Given the description of an element on the screen output the (x, y) to click on. 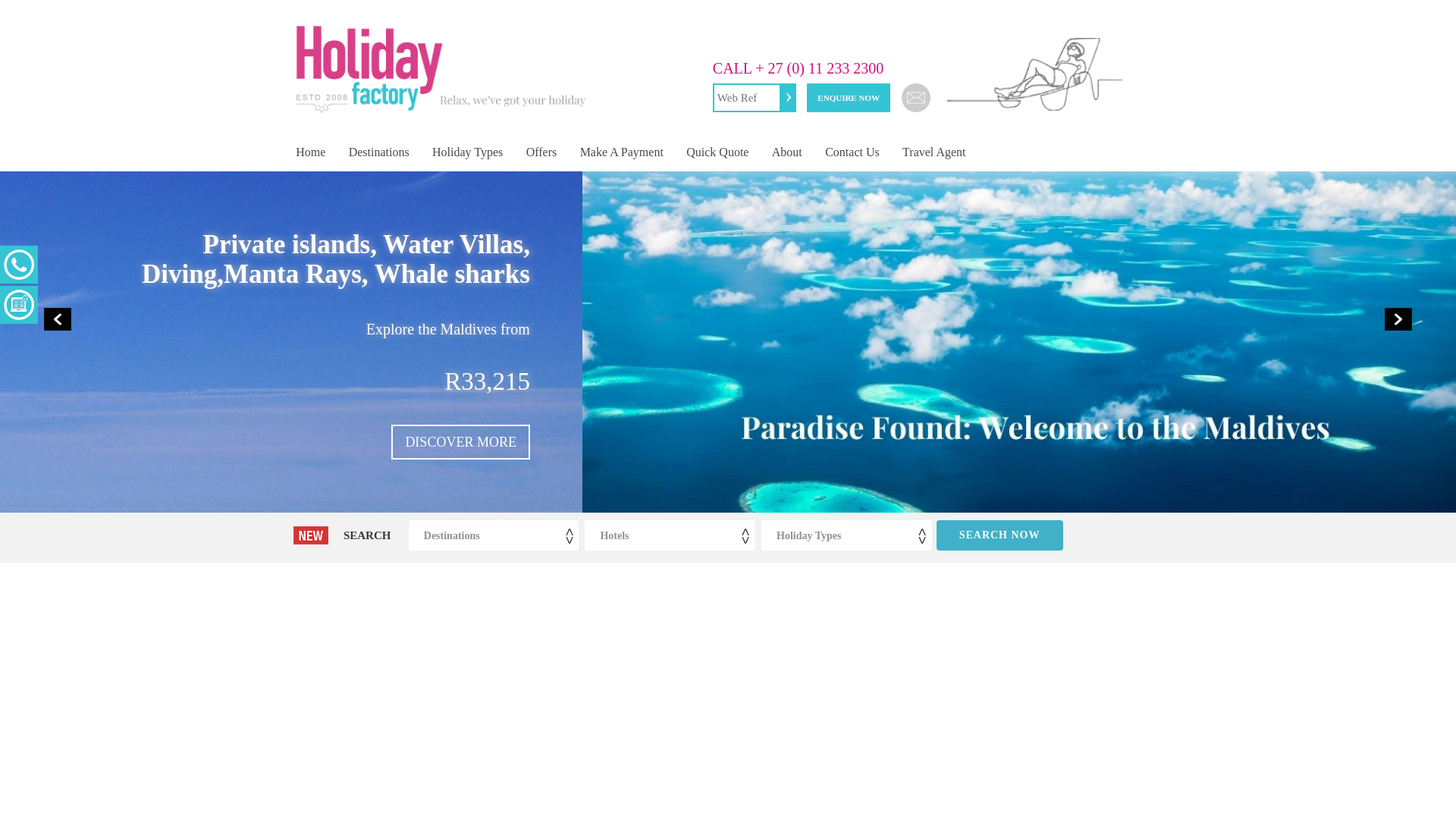
search now (999, 535)
ENQUIRE NOW (847, 97)
Destinations (378, 152)
Travel Agent (933, 152)
About (786, 152)
Offers (540, 152)
Home (309, 152)
Quick Quote (717, 152)
Contact Us (852, 152)
Make A Payment (621, 152)
